Given the description of an element on the screen output the (x, y) to click on. 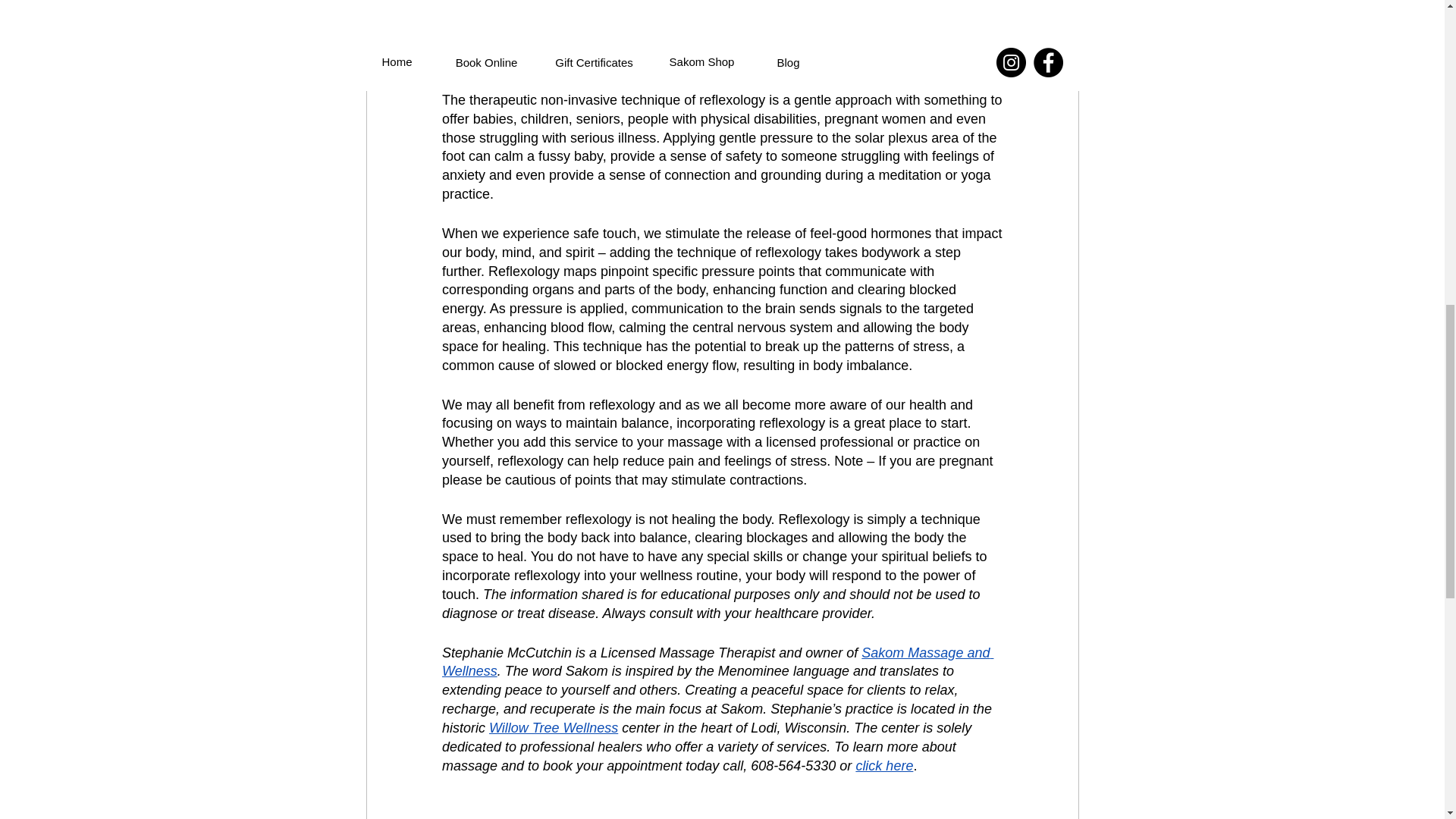
Sakom Massage and Wellness (716, 662)
Willow Tree Wellness (553, 727)
click here (884, 765)
